Given the description of an element on the screen output the (x, y) to click on. 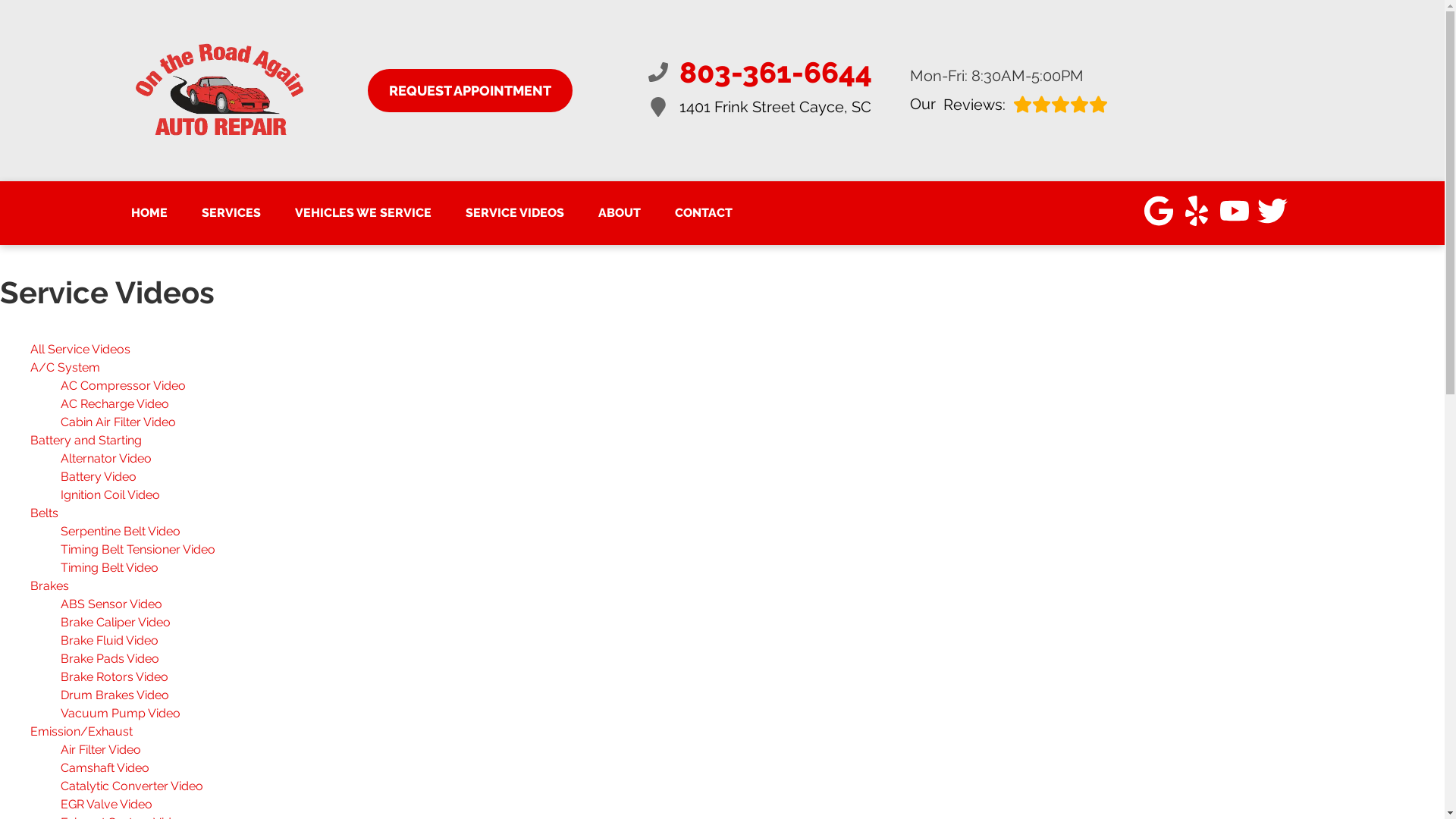
HOME (149, 212)
On The Road Again Auto Repair (220, 90)
REQUEST APPOINTMENT (758, 107)
Our Reviews (469, 90)
Services (1009, 103)
Home (231, 212)
Call On The Road Again Auto Repair (149, 212)
SERVICES (1009, 103)
Make an Appointment (758, 72)
803-361-6644 (231, 212)
